Given the description of an element on the screen output the (x, y) to click on. 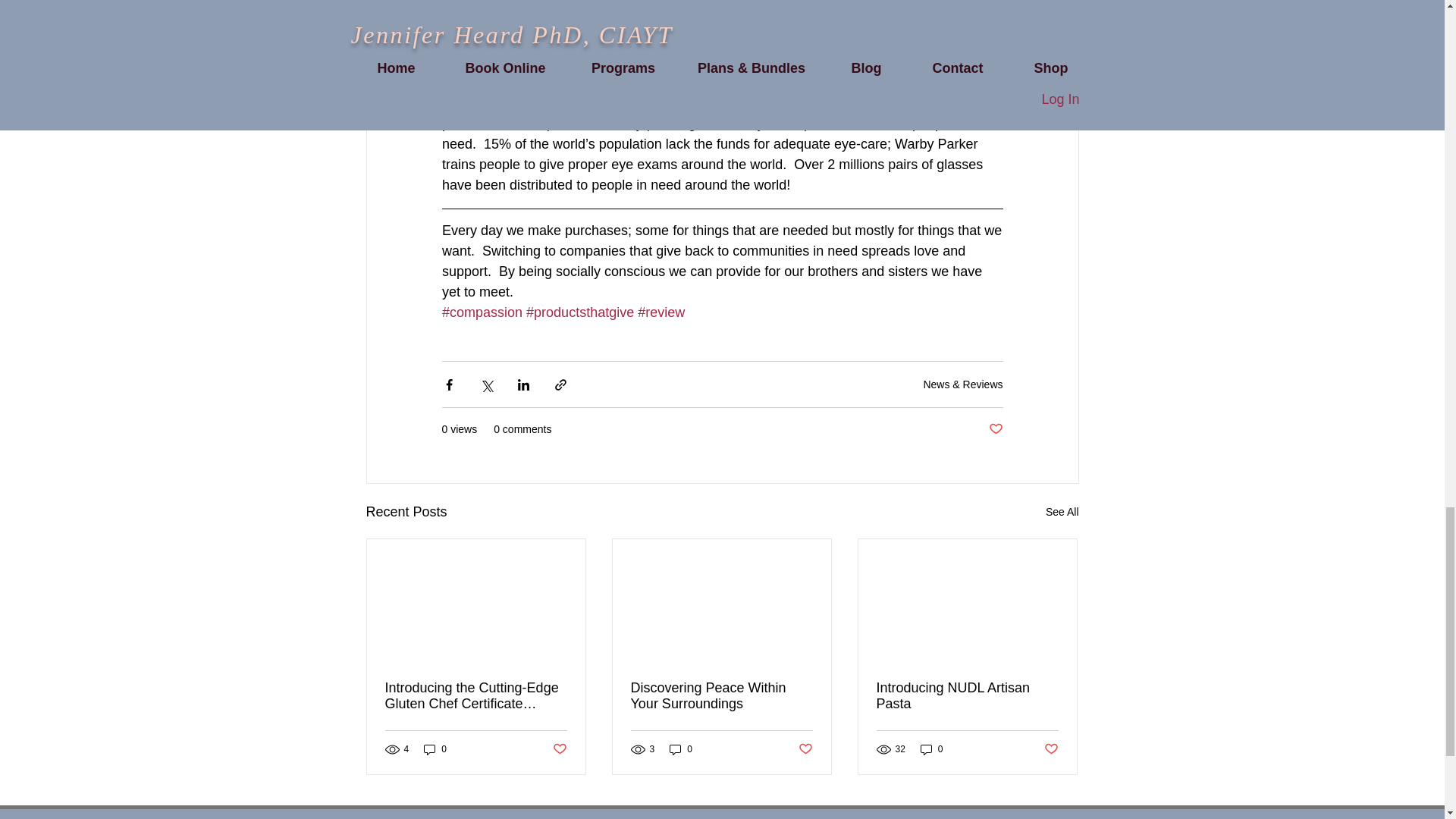
Post not marked as liked (558, 749)
See All (1061, 512)
0 (435, 748)
Post not marked as liked (995, 429)
